Given the description of an element on the screen output the (x, y) to click on. 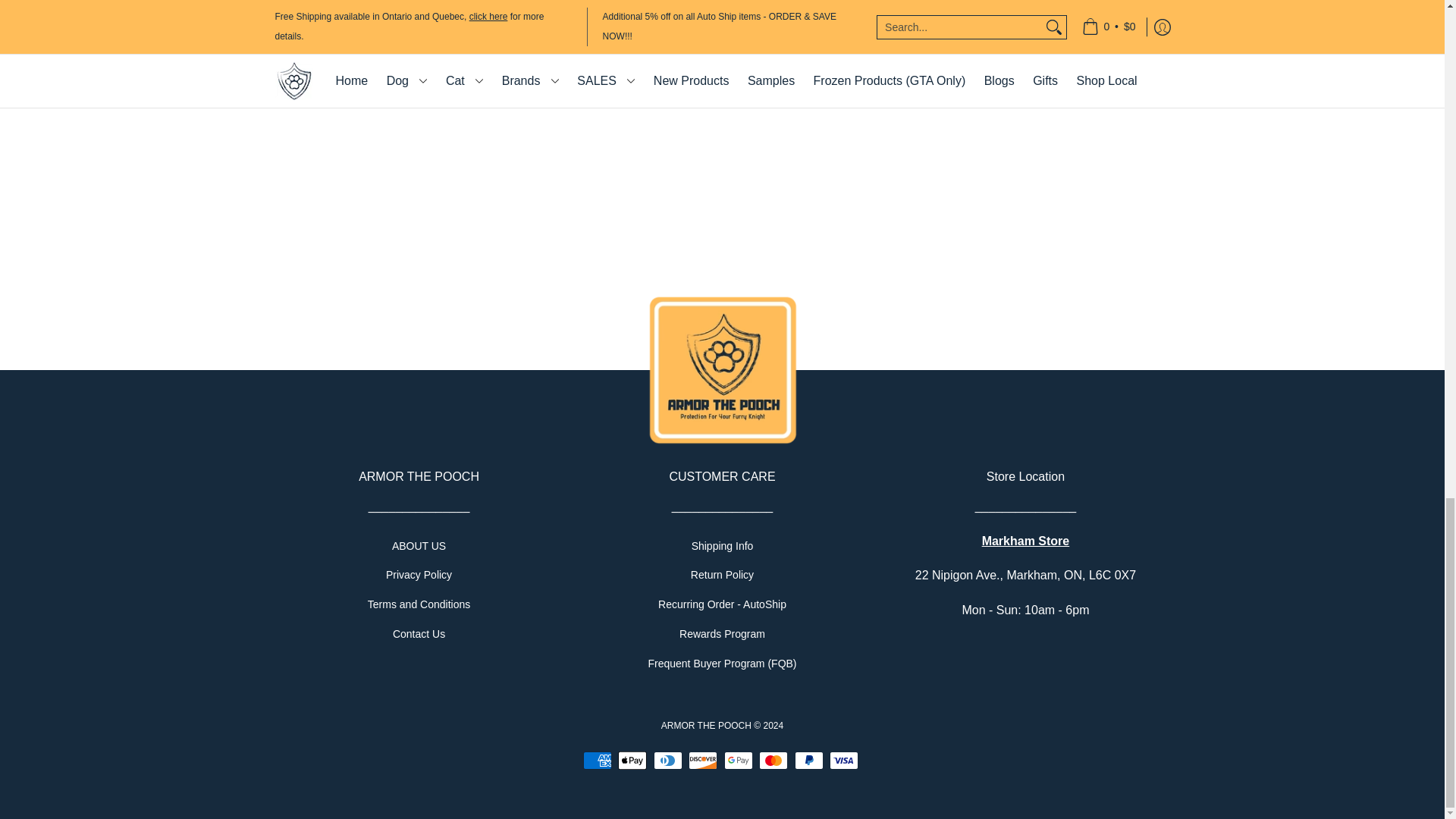
American Express (597, 760)
Diners Club (667, 760)
Apple Pay (631, 760)
Discover (702, 760)
